Given the description of an element on the screen output the (x, y) to click on. 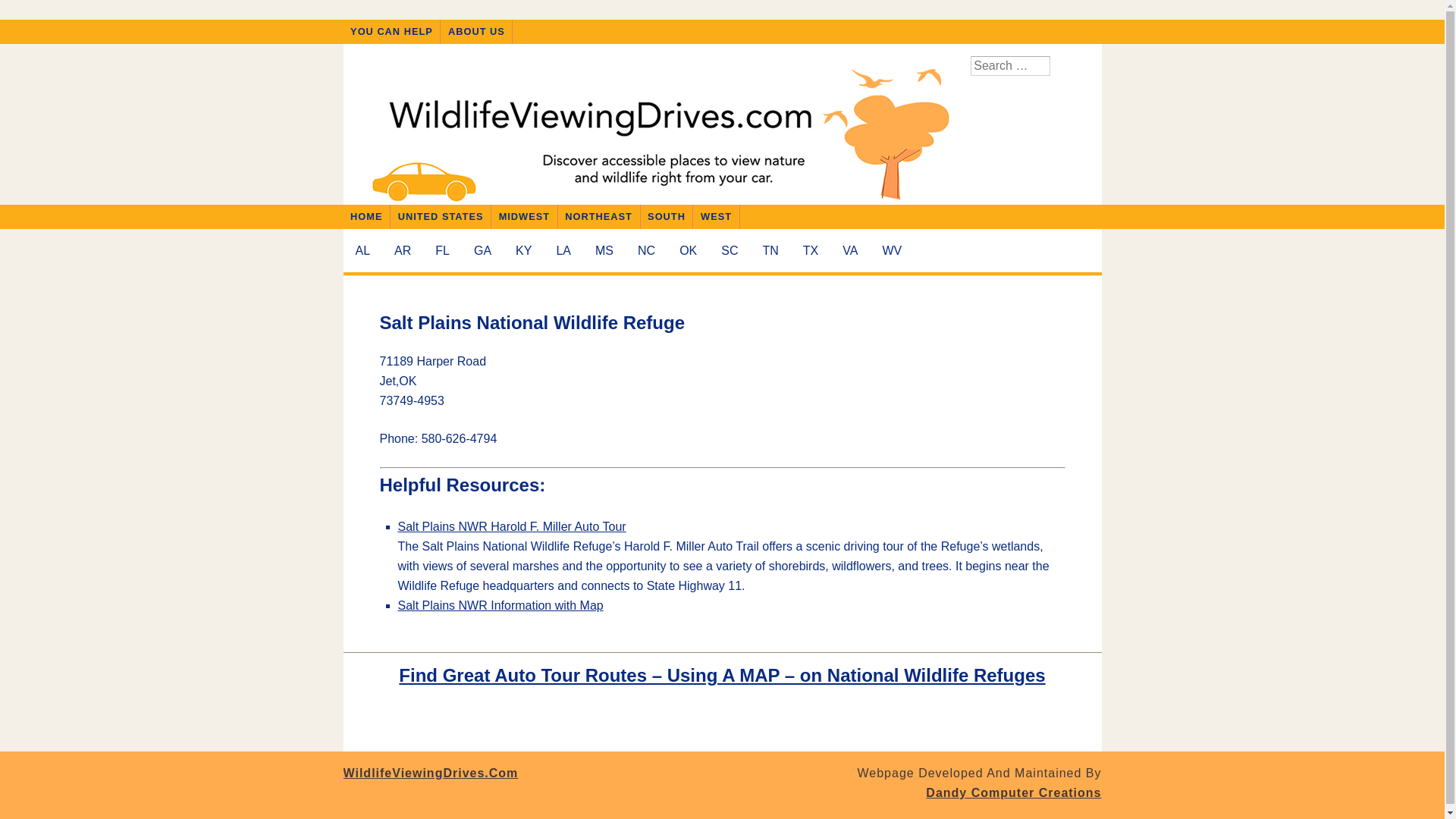
AL (362, 250)
UNITED STATES (441, 216)
SC (728, 250)
Salt Plains NWR Information with Map (499, 604)
TX (810, 250)
NORTHEAST (598, 216)
AR (402, 250)
KY (523, 250)
TN (770, 250)
Search for: (1010, 66)
MS (604, 250)
LA (563, 250)
WildlifeViewingDrives.Com (430, 772)
NC (645, 250)
VA (849, 250)
